Given the description of an element on the screen output the (x, y) to click on. 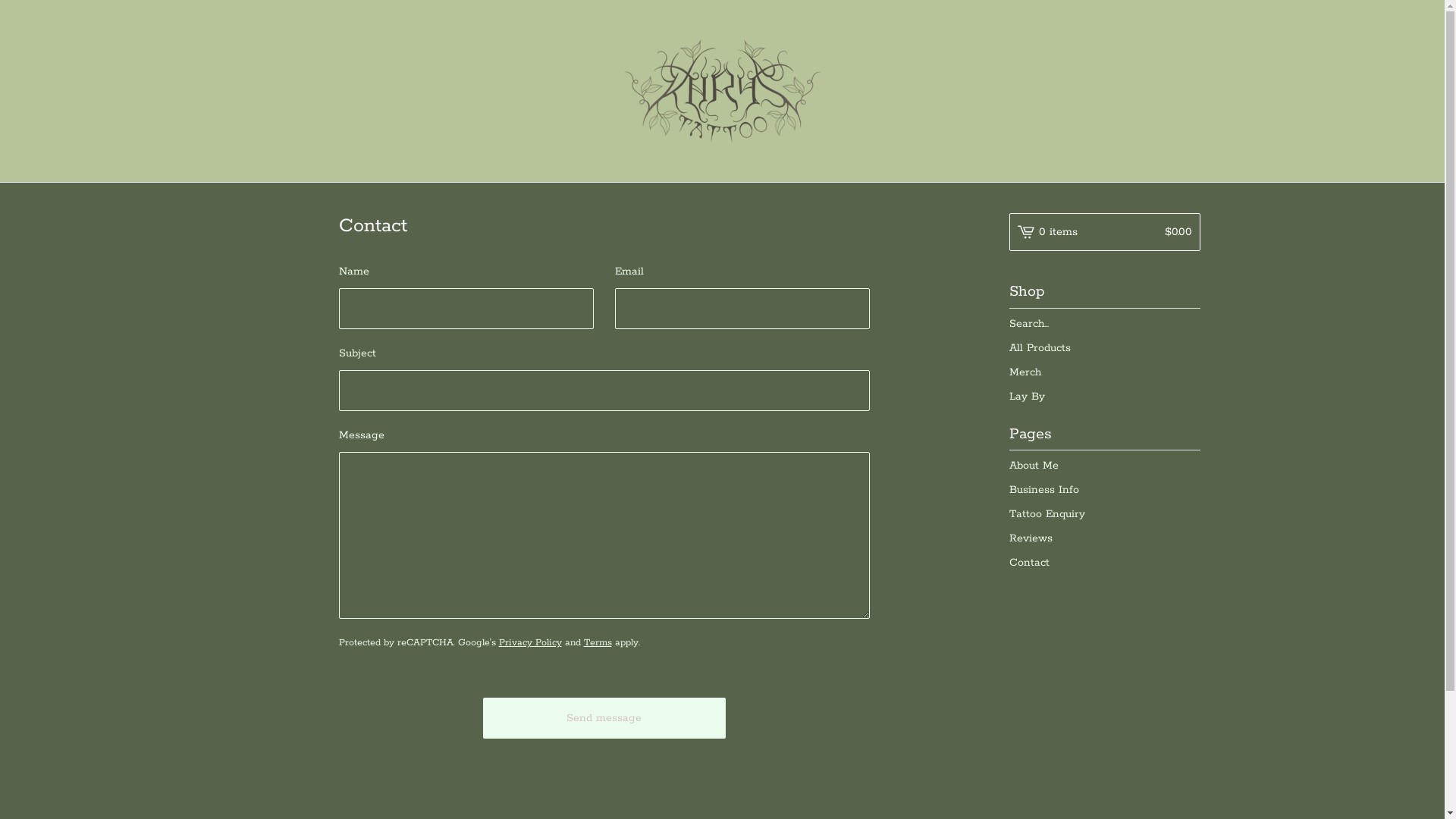
Contact Element type: text (1103, 562)
All Products Element type: text (1103, 347)
Reviews Element type: text (1103, 538)
0 items
$0.00 Element type: text (1103, 232)
Send message Element type: text (603, 717)
Privacy Policy Element type: text (529, 642)
About Me Element type: text (1103, 465)
Business Info Element type: text (1103, 489)
Lay By Element type: text (1103, 396)
Merch Element type: text (1103, 372)
khrys Element type: hover (722, 90)
Tattoo Enquiry Element type: text (1103, 514)
Terms Element type: text (597, 642)
